Given the description of an element on the screen output the (x, y) to click on. 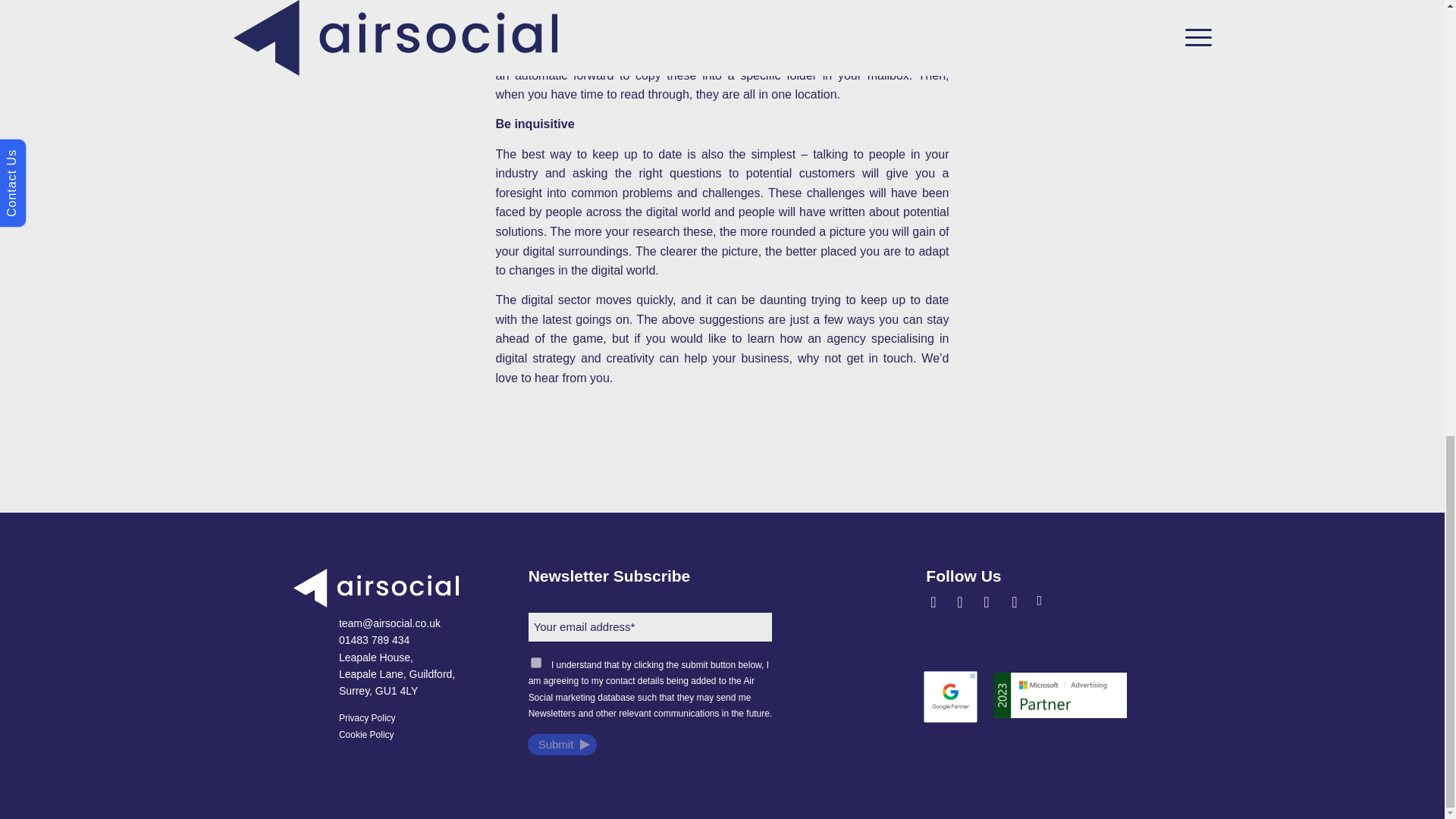
TikTok (1038, 599)
Facebook (960, 601)
AirSocialLogo (376, 587)
Submit (561, 744)
01483 789 434 (374, 639)
Twitter (1014, 601)
Privacy Policy (367, 717)
1 (536, 662)
LinkedIn (932, 601)
Instagram (986, 601)
